Given the description of an element on the screen output the (x, y) to click on. 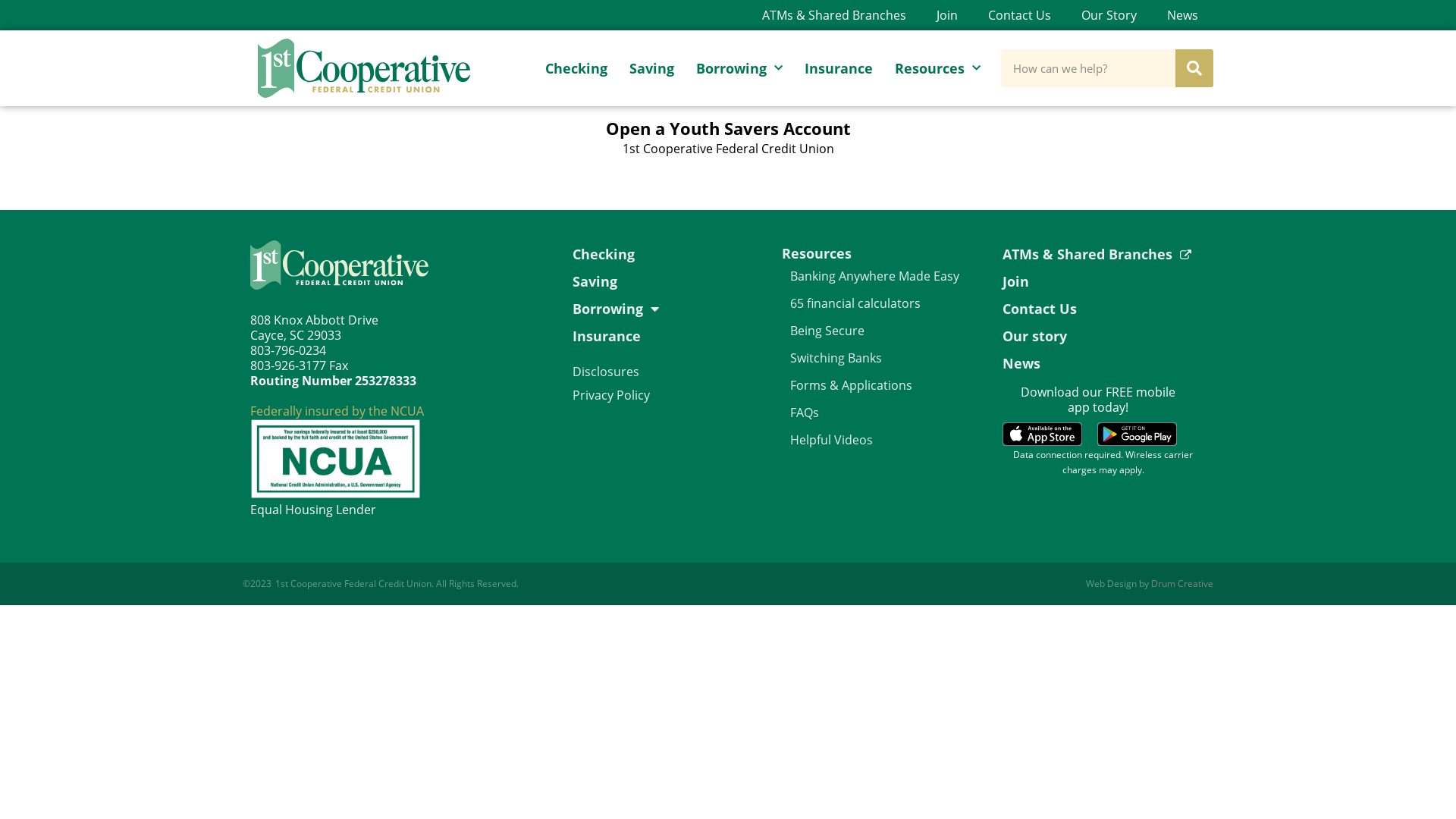
Borrowing Element type: text (661, 308)
ATMs & Shared Branches Element type: text (833, 14)
Privacy Policy Element type: text (610, 394)
Checking Element type: text (575, 67)
Federally insured by the NCUA Element type: text (336, 410)
News Element type: text (1182, 14)
News Element type: text (1102, 362)
65 financial calculators Element type: text (889, 302)
Switching Banks Element type: text (889, 357)
Contact Us Element type: text (1102, 308)
Drum Creative Element type: text (1182, 583)
Our Story Element type: text (1108, 14)
ATMs & Shared Branches   Element type: text (1102, 253)
Insurance Element type: text (838, 67)
Disclosures Element type: text (605, 371)
Checking Element type: text (661, 253)
Being Secure Element type: text (889, 330)
Insurance Element type: text (661, 335)
FAQs Element type: text (889, 412)
Join Element type: text (946, 14)
Resources Element type: text (937, 67)
Saving Element type: text (661, 280)
Borrowing Element type: text (738, 67)
Contact Us Element type: text (1019, 14)
Saving Element type: text (651, 67)
Forms & Applications Element type: text (889, 384)
Banking Anywhere Made Easy Element type: text (889, 275)
Helpful Videos Element type: text (889, 439)
Join Element type: text (1102, 280)
Our story Element type: text (1102, 335)
